Given the description of an element on the screen output the (x, y) to click on. 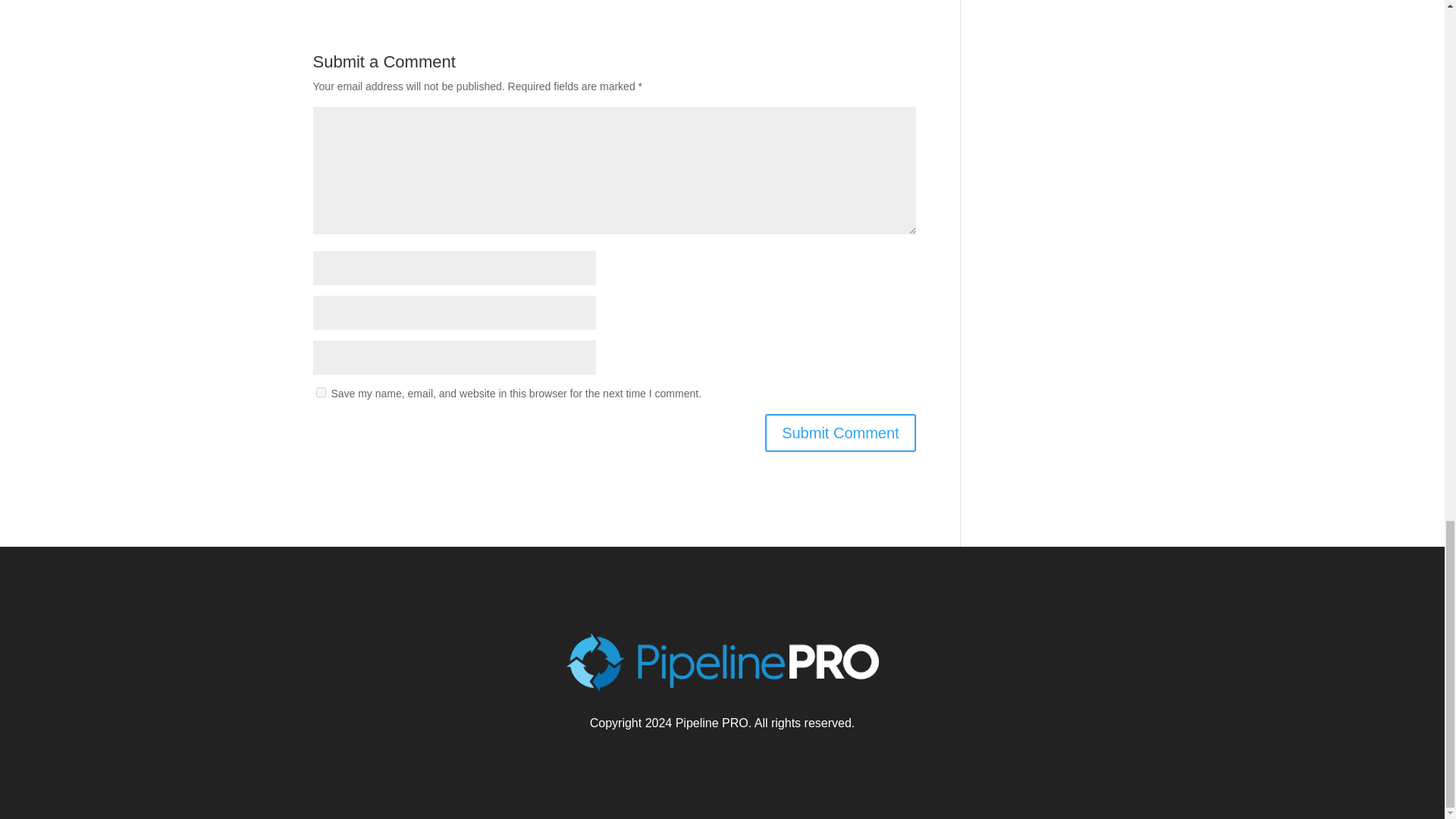
yes (319, 392)
Submit Comment (840, 433)
